Given the description of an element on the screen output the (x, y) to click on. 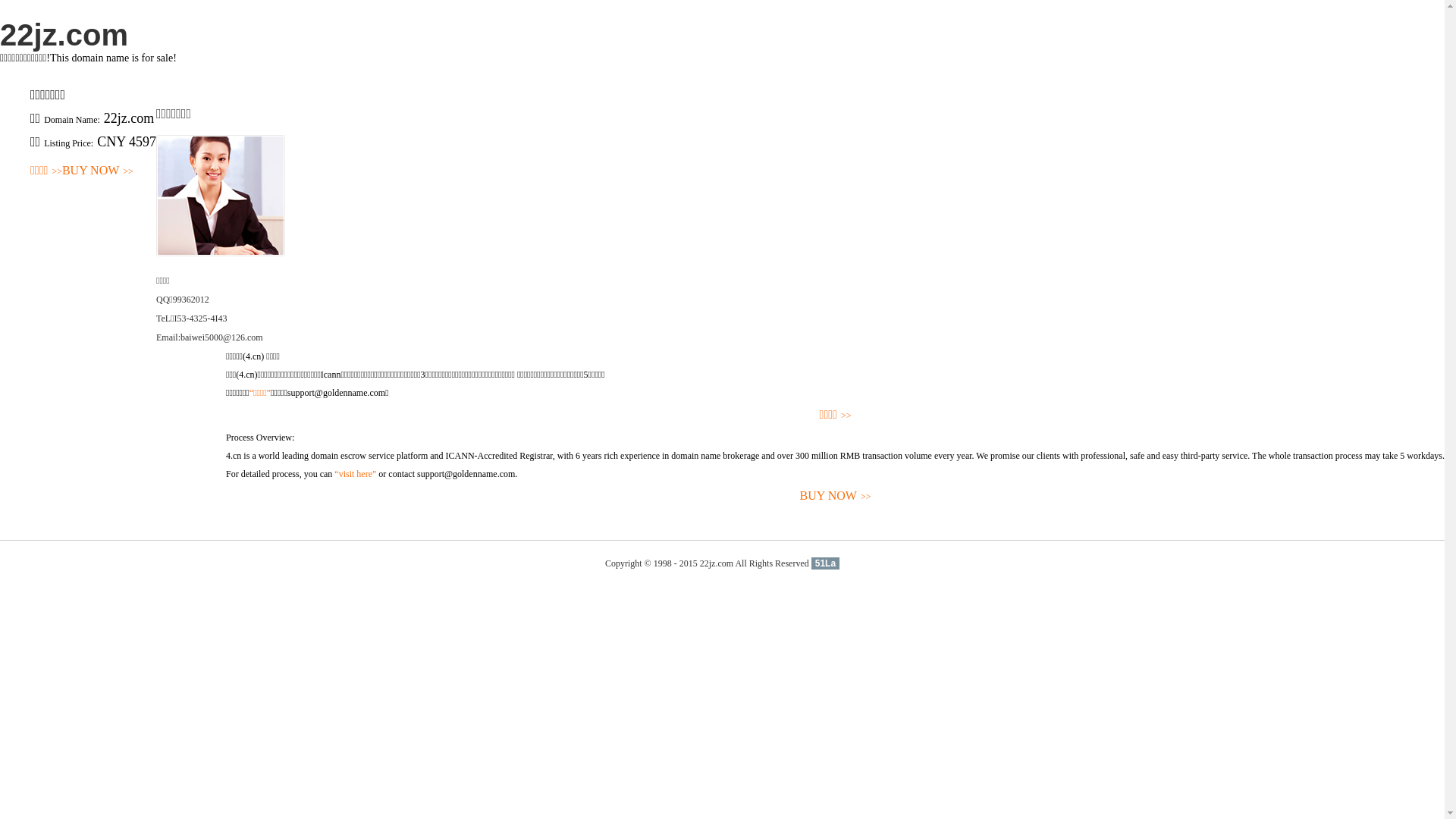
51La Element type: text (825, 563)
BUY NOW>> Element type: text (97, 170)
BUY NOW>> Element type: text (834, 496)
